Given the description of an element on the screen output the (x, y) to click on. 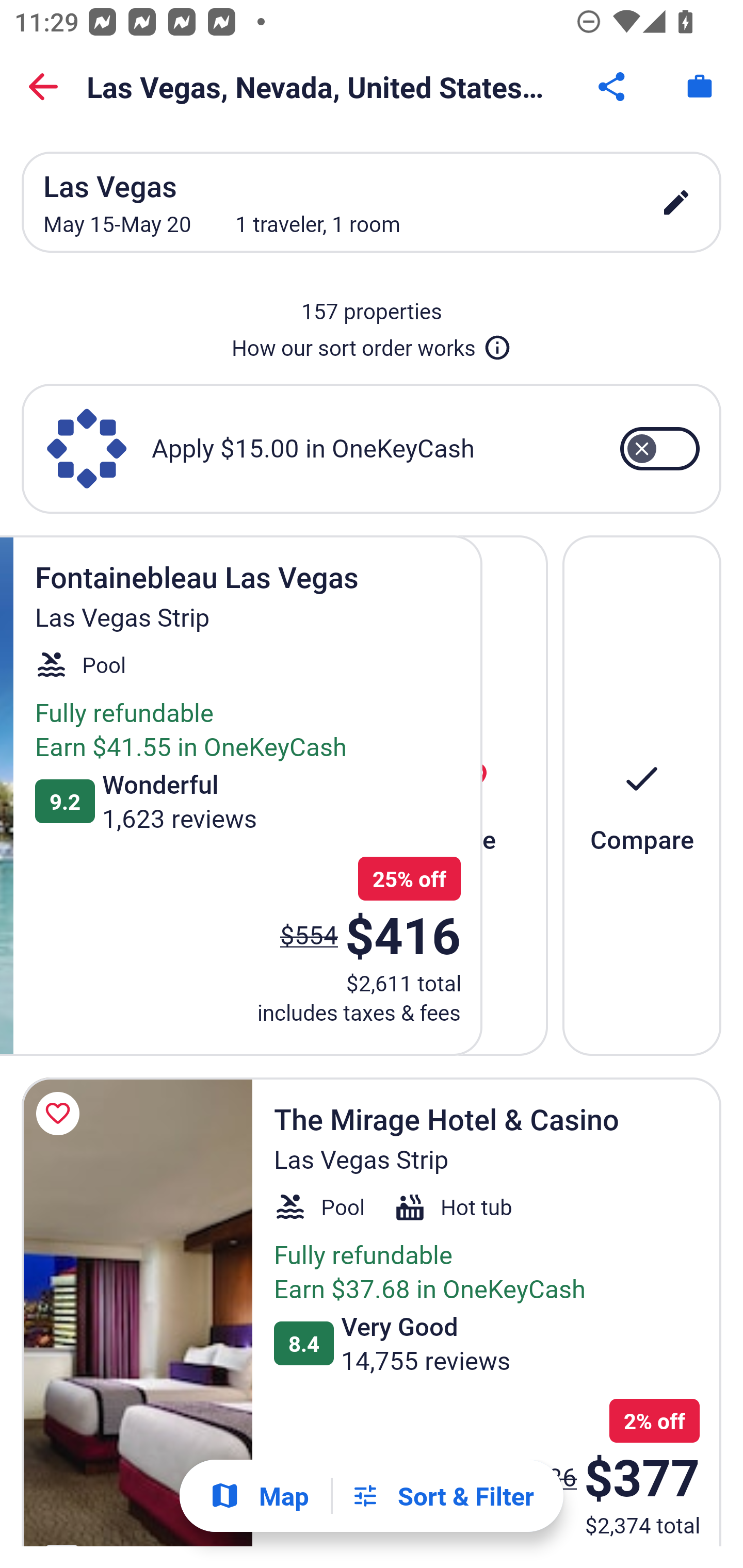
Back (43, 86)
Share Button (612, 86)
Trips. Button (699, 86)
Las Vegas May 15-May 20 1 traveler, 1 room edit (371, 202)
How our sort order works (371, 344)
Compare (641, 794)
$554 The price was $554 (308, 934)
Save The Mirage Hotel & Casino to a trip (61, 1113)
The Mirage Hotel & Casino (136, 1311)
Filters Sort & Filter Filters Button (442, 1495)
Show map Map Show map Button (258, 1495)
